Given the description of an element on the screen output the (x, y) to click on. 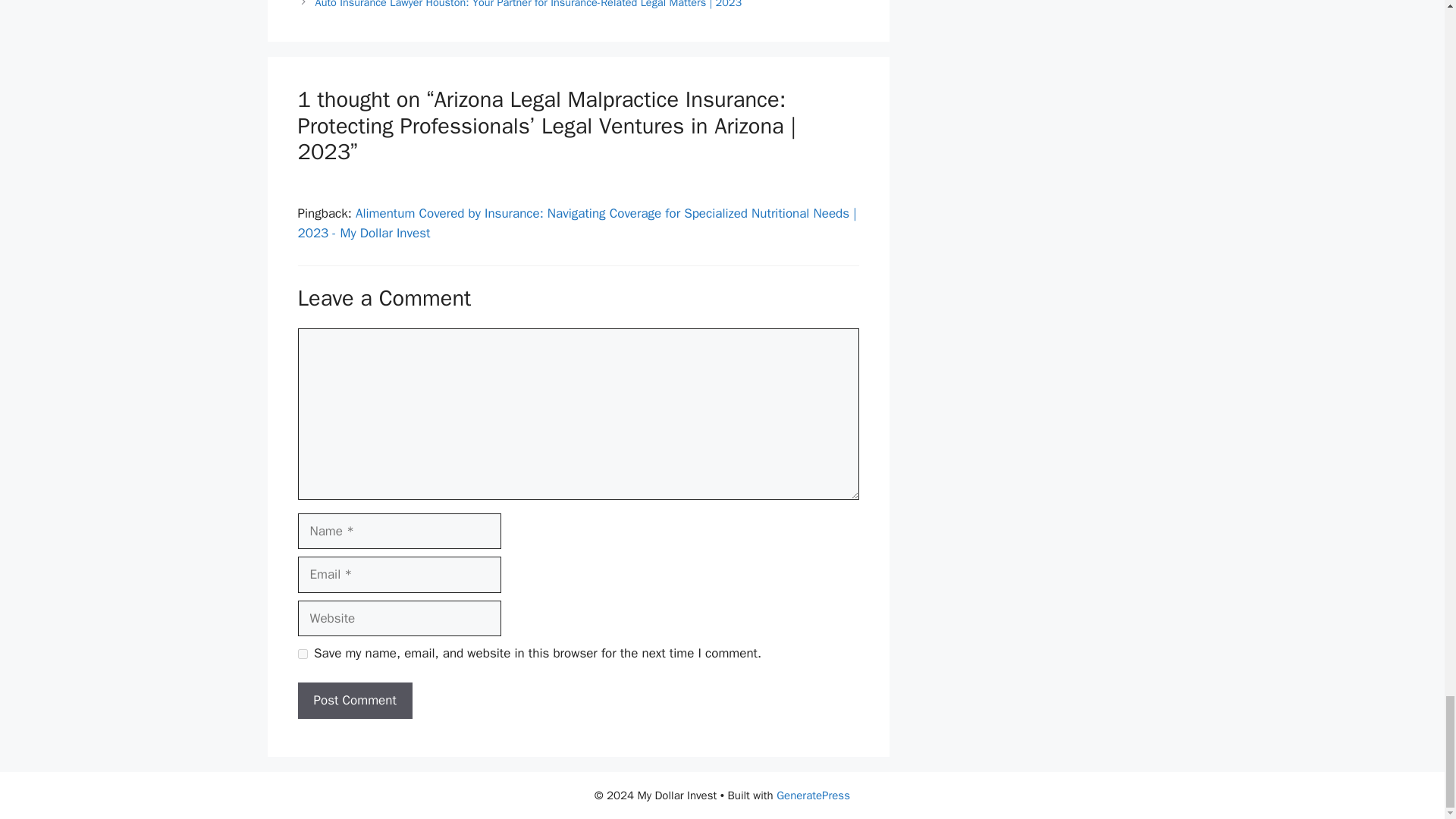
Post Comment (354, 700)
yes (302, 654)
Post Comment (354, 700)
